Given the description of an element on the screen output the (x, y) to click on. 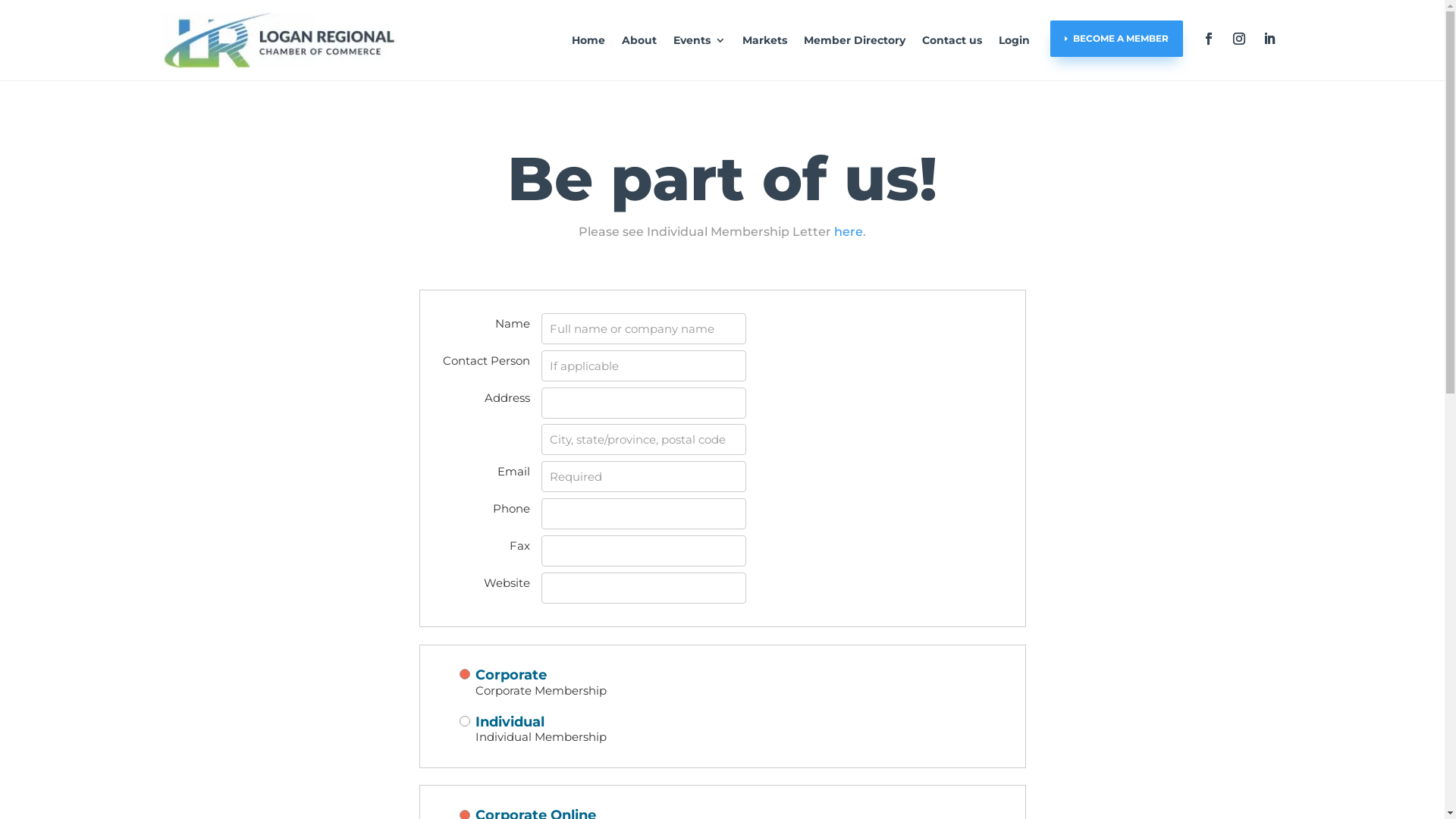
Login Element type: text (1013, 40)
Member Directory Element type: text (854, 40)
here Element type: text (848, 231)
Home Element type: text (588, 40)
Events Element type: text (699, 40)
Individual
Individual Membership Element type: text (722, 729)
Follow on Instagram Element type: hover (1238, 38)
Markets Element type: text (763, 40)
BECOME A MEMBER Element type: text (1116, 38)
Corporate
Corporate Membership Element type: text (722, 682)
Follow on LinkedIn Element type: hover (1269, 38)
Contact us Element type: text (952, 40)
About Element type: text (638, 40)
Follow on Facebook Element type: hover (1208, 38)
